Given the description of an element on the screen output the (x, y) to click on. 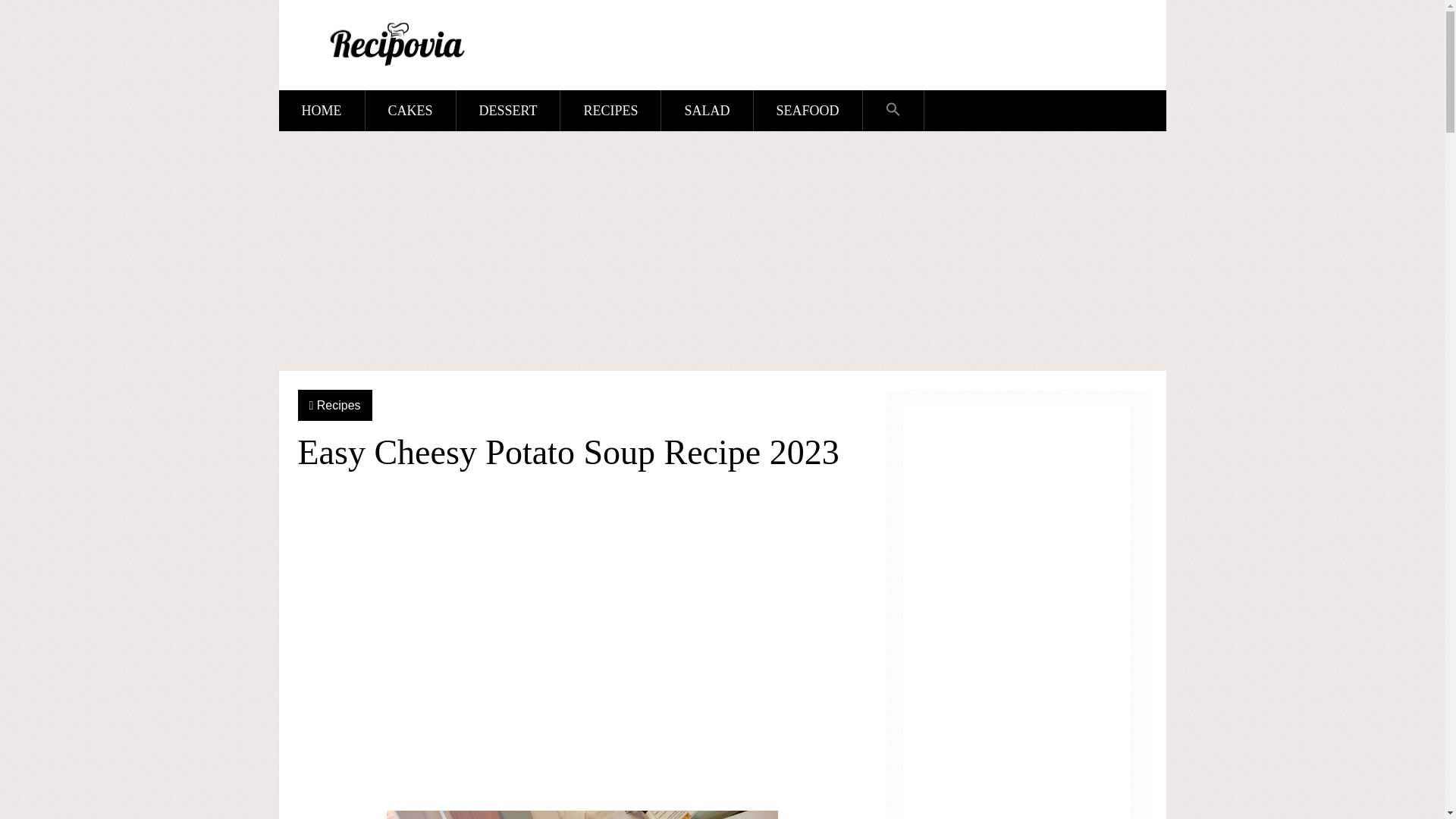
RECIPES (610, 110)
DESSERT (508, 110)
Advertisement (581, 649)
NEXT ARTICLE (807, 504)
CAKES (410, 110)
HOME (322, 110)
View all posts in Recipes (339, 404)
Recipes (339, 404)
SEAFOOD (807, 110)
PREV ARTICLE (682, 504)
SALAD (706, 110)
